Given the description of an element on the screen output the (x, y) to click on. 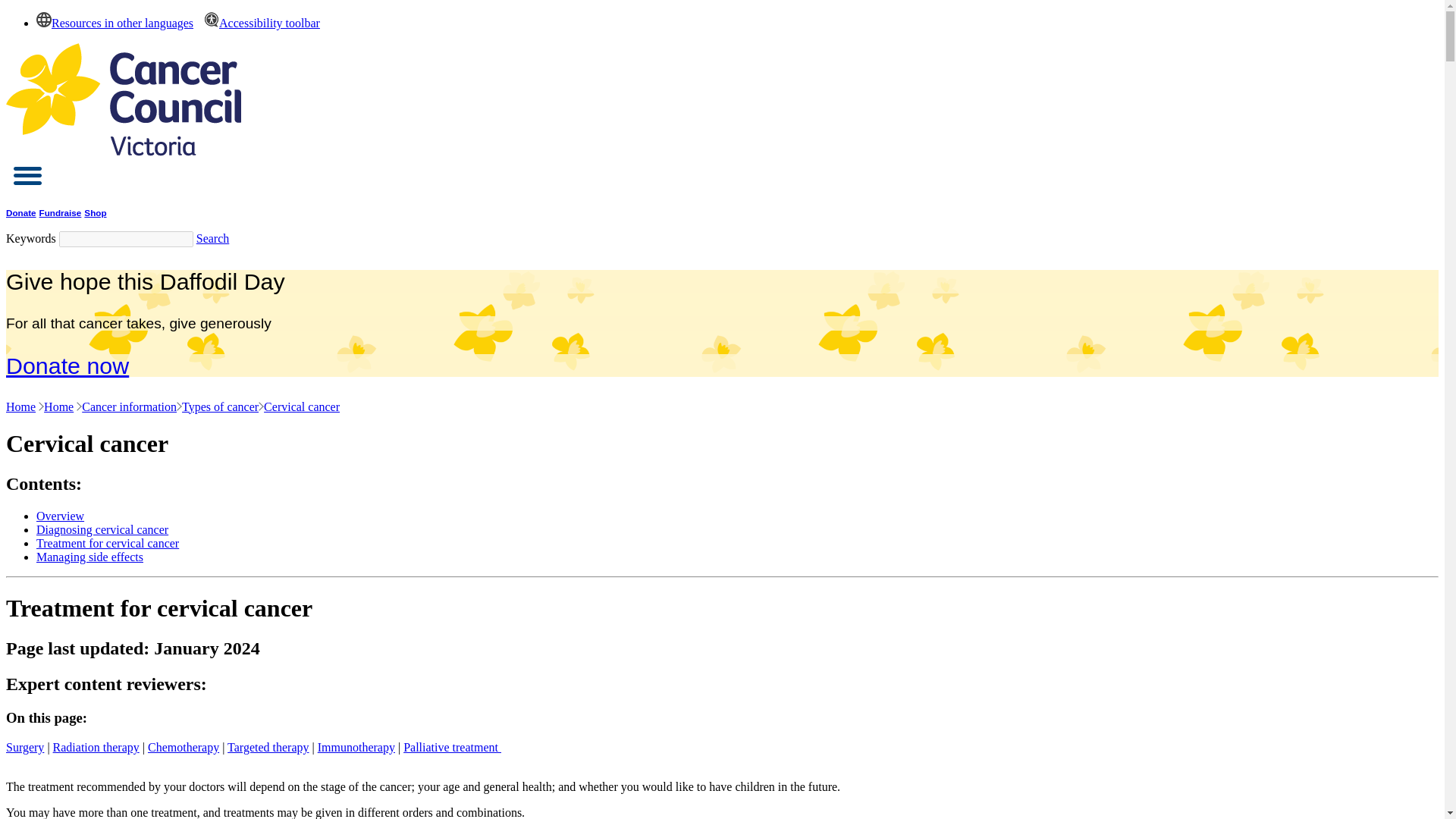
Treatment for cervical cancer (107, 543)
Cervical cancer (301, 406)
Radiation therapy (95, 747)
Donate (20, 212)
Donate now (67, 365)
Cancer information (128, 406)
Chemotherapy (183, 747)
Types of cancer (220, 406)
Return to the home page (123, 151)
Home (19, 406)
Shop (95, 212)
Diagnosing cervical cancer (102, 529)
Home (58, 406)
Accessibility toolbar (258, 22)
Resources in other languages (114, 22)
